Given the description of an element on the screen output the (x, y) to click on. 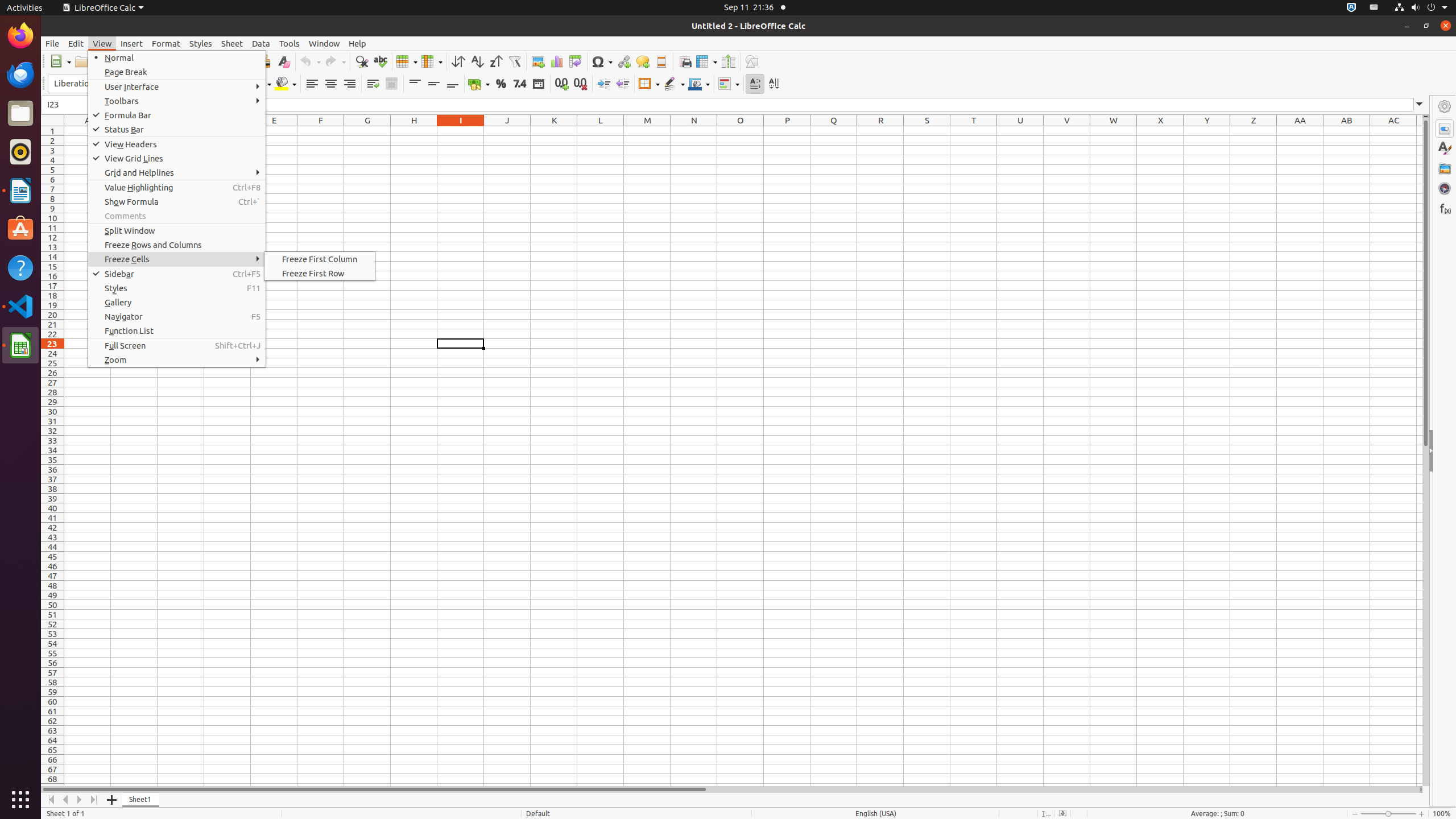
S1 Element type: table-cell (926, 130)
B1 Element type: table-cell (133, 130)
Align Left Element type: push-button (311, 83)
Insert Element type: menu (131, 43)
